Given the description of an element on the screen output the (x, y) to click on. 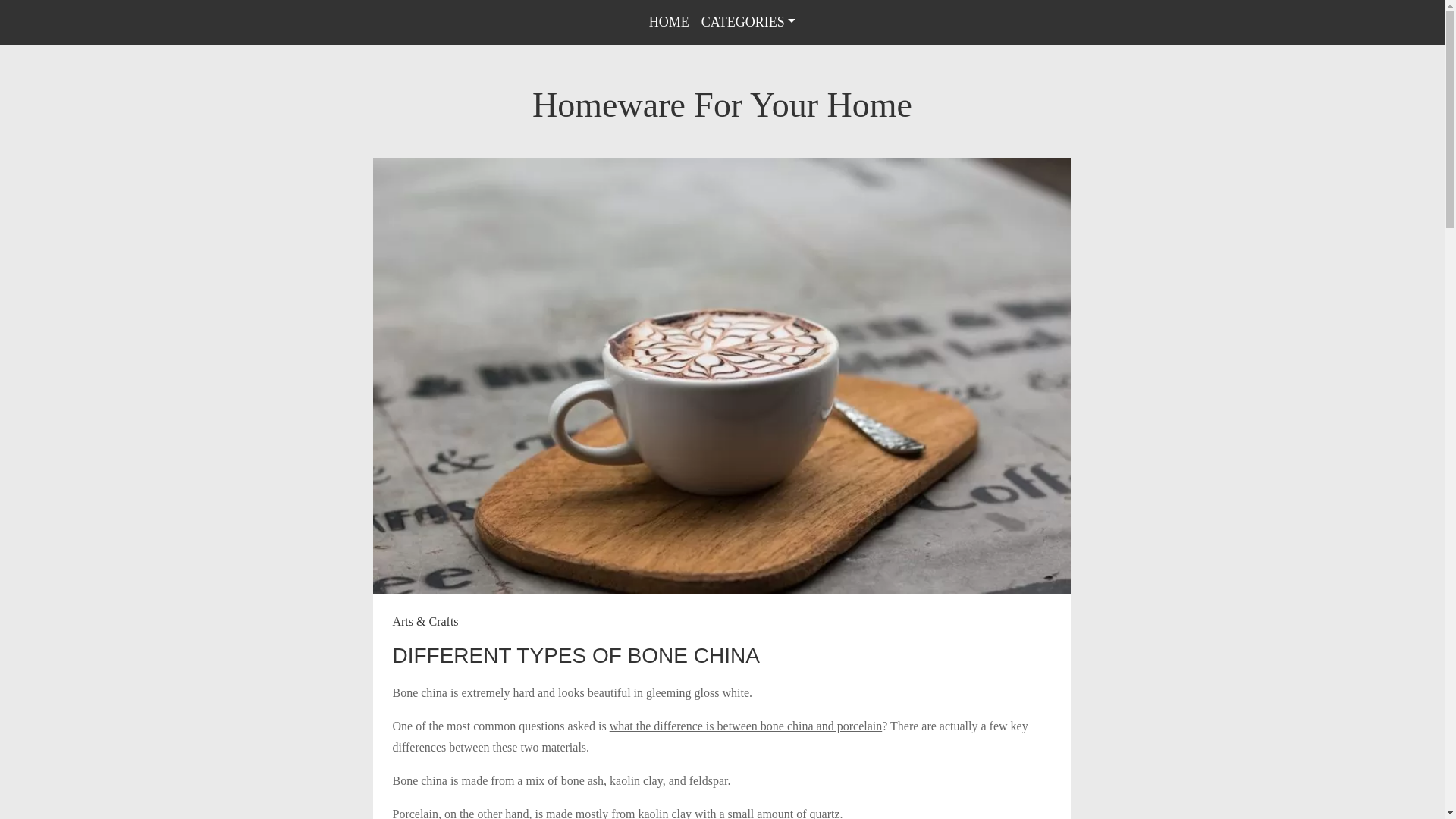
Homeware For Your Home (722, 104)
kaolin clay (664, 813)
HOME (669, 21)
CATEGORIES (748, 21)
what the difference is between bone china and porcelain (746, 725)
